Given the description of an element on the screen output the (x, y) to click on. 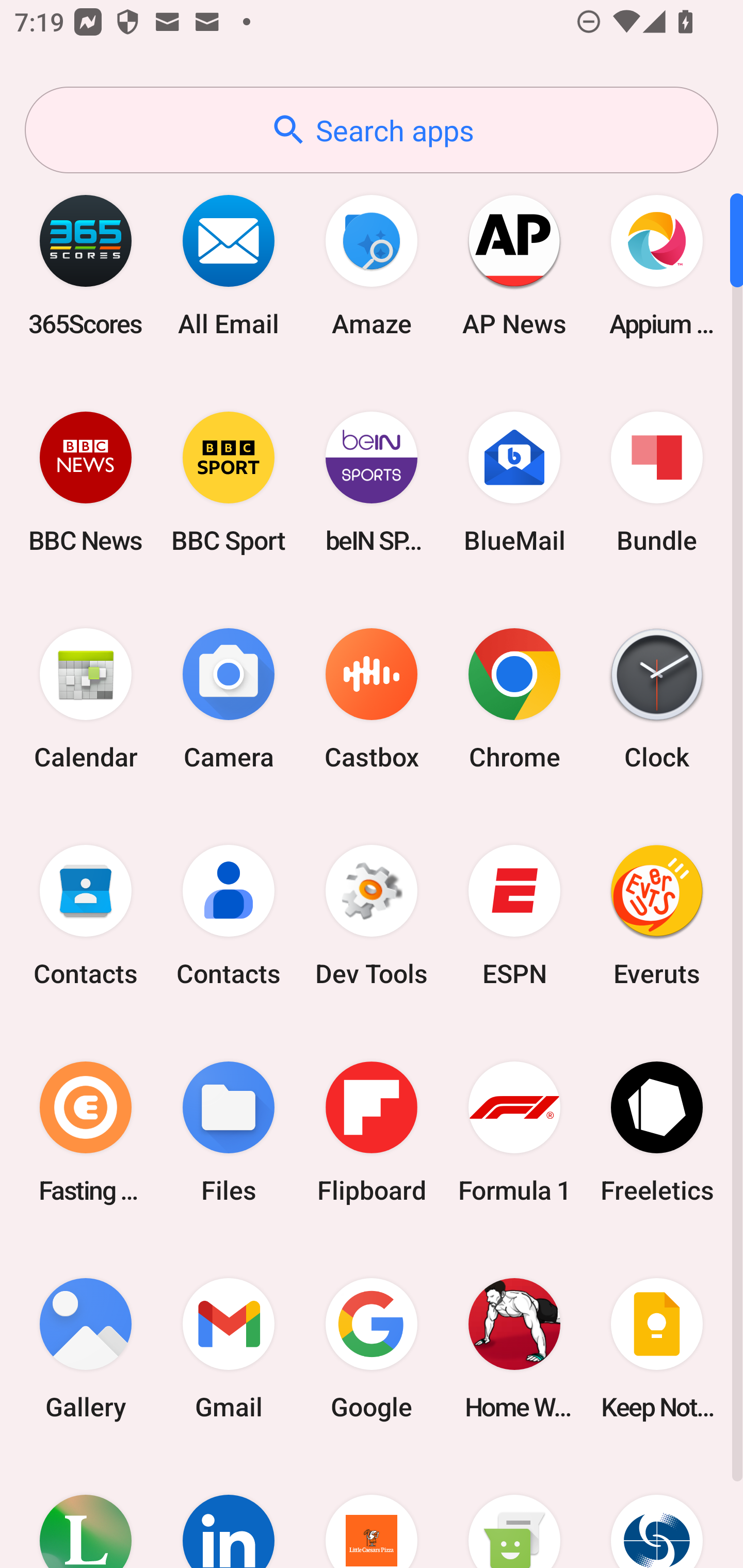
  Search apps (371, 130)
365Scores (85, 264)
All Email (228, 264)
Amaze (371, 264)
AP News (514, 264)
Appium Settings (656, 264)
BBC News (85, 482)
BBC Sport (228, 482)
beIN SPORTS (371, 482)
BlueMail (514, 482)
Bundle (656, 482)
Calendar (85, 699)
Camera (228, 699)
Castbox (371, 699)
Chrome (514, 699)
Clock (656, 699)
Contacts (85, 915)
Contacts (228, 915)
Dev Tools (371, 915)
ESPN (514, 915)
Everuts (656, 915)
Fasting Coach (85, 1131)
Files (228, 1131)
Flipboard (371, 1131)
Formula 1 (514, 1131)
Freeletics (656, 1131)
Gallery (85, 1348)
Gmail (228, 1348)
Google (371, 1348)
Home Workout (514, 1348)
Keep Notes (656, 1348)
